Given the description of an element on the screen output the (x, y) to click on. 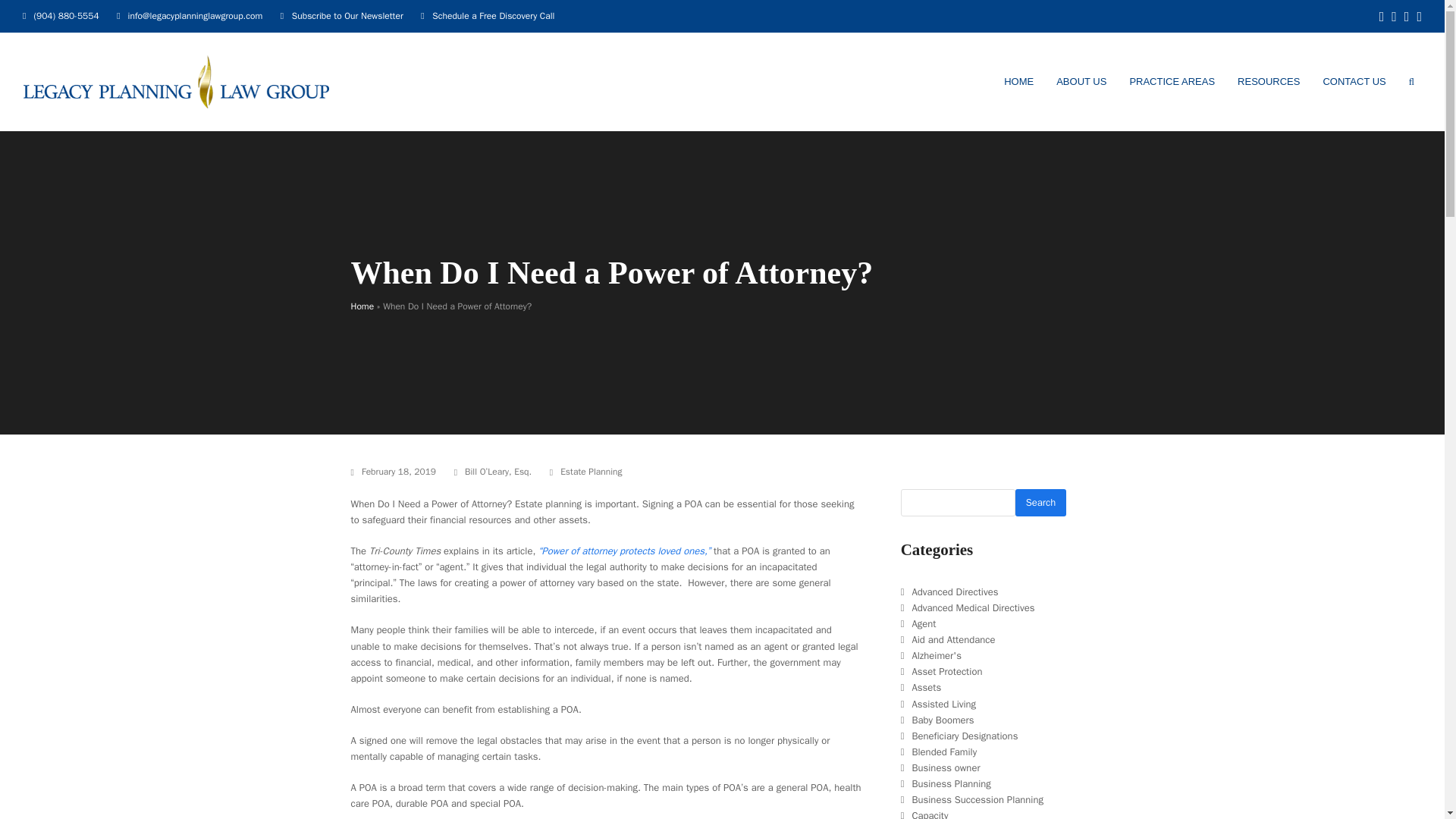
PRACTICE AREAS (1171, 81)
HOME (1018, 81)
Schedule a Free Discovery Call (493, 15)
Subscribe to Our Newsletter (347, 15)
ABOUT US (1081, 81)
